Given the description of an element on the screen output the (x, y) to click on. 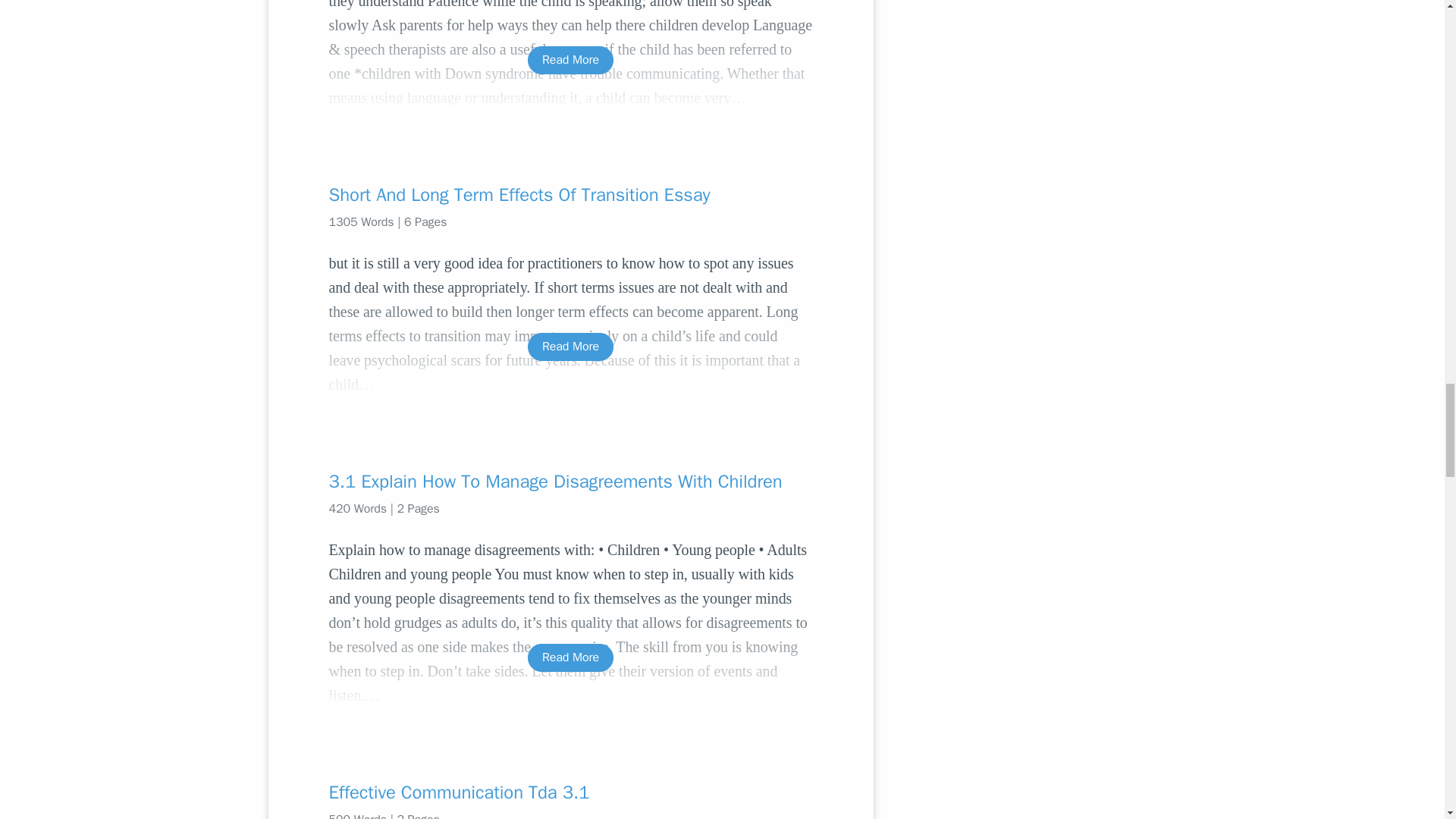
Read More (569, 657)
Short And Long Term Effects Of Transition Essay (570, 194)
Read More (569, 346)
Effective Communication Tda 3.1 (570, 792)
3.1 Explain How To Manage Disagreements With Children (570, 481)
Read More (569, 59)
